Given the description of an element on the screen output the (x, y) to click on. 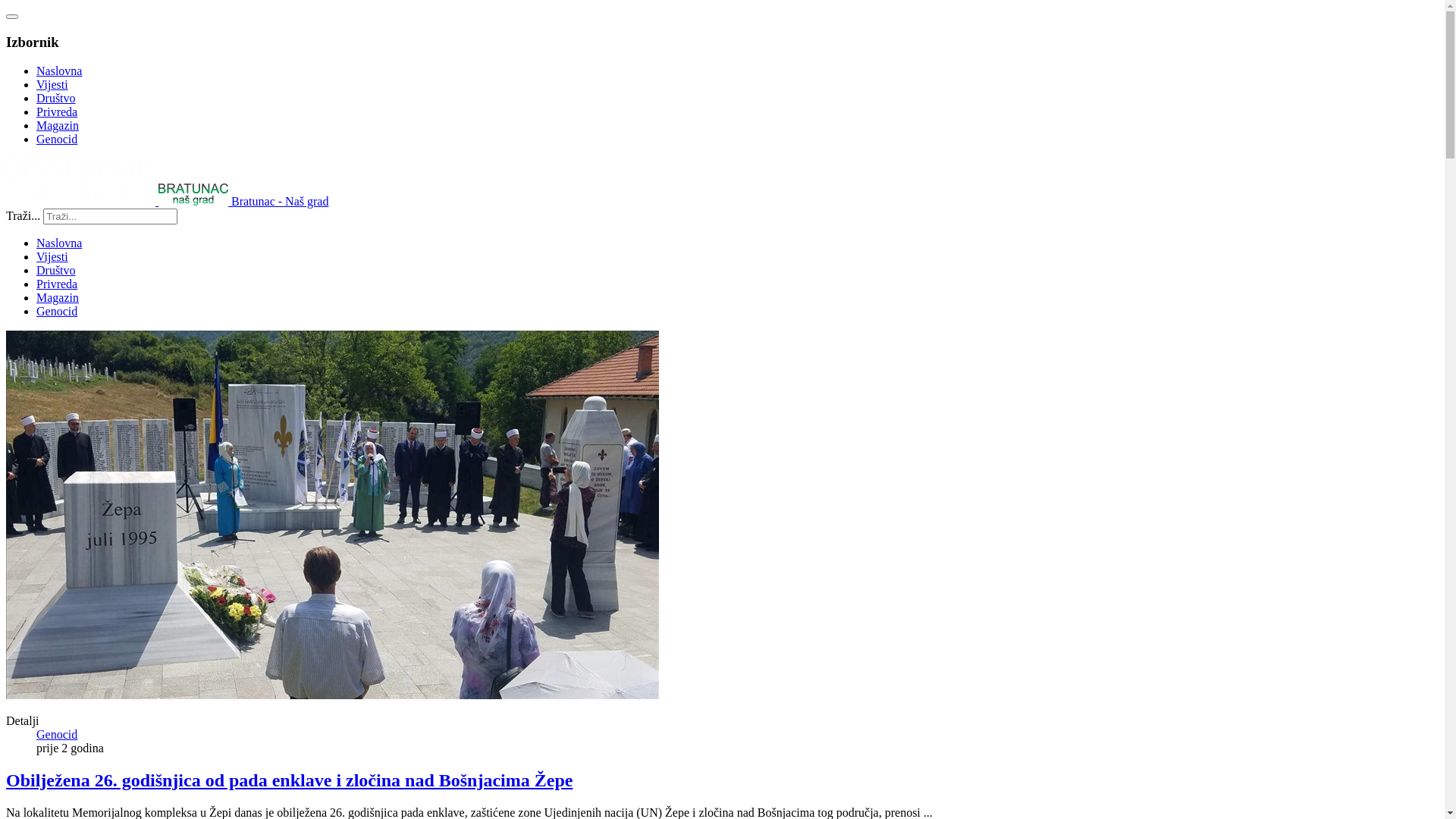
Vijesti Element type: text (52, 256)
Vijesti Element type: text (52, 84)
Magazin Element type: text (57, 125)
Naslovna Element type: text (58, 70)
Genocid Element type: text (56, 734)
Privreda Element type: text (56, 283)
Privreda Element type: text (56, 111)
Genocid Element type: text (56, 310)
Magazin Element type: text (57, 297)
Genocid Element type: text (56, 138)
Naslovna Element type: text (58, 242)
